Given the description of an element on the screen output the (x, y) to click on. 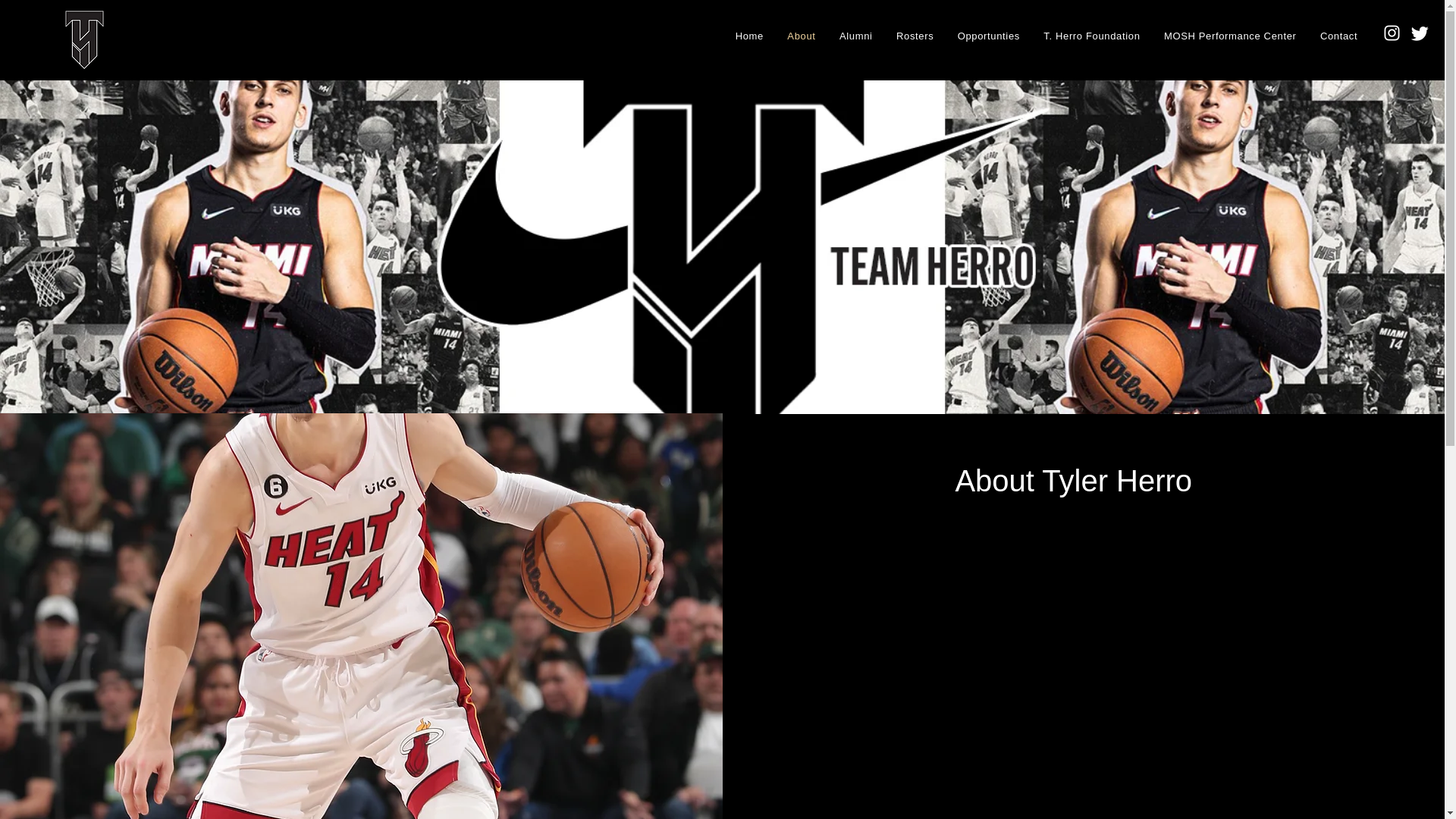
About (801, 35)
Alumni (854, 35)
Contact (1339, 35)
Home (749, 35)
T. Herro Foundation (1092, 35)
